Given the description of an element on the screen output the (x, y) to click on. 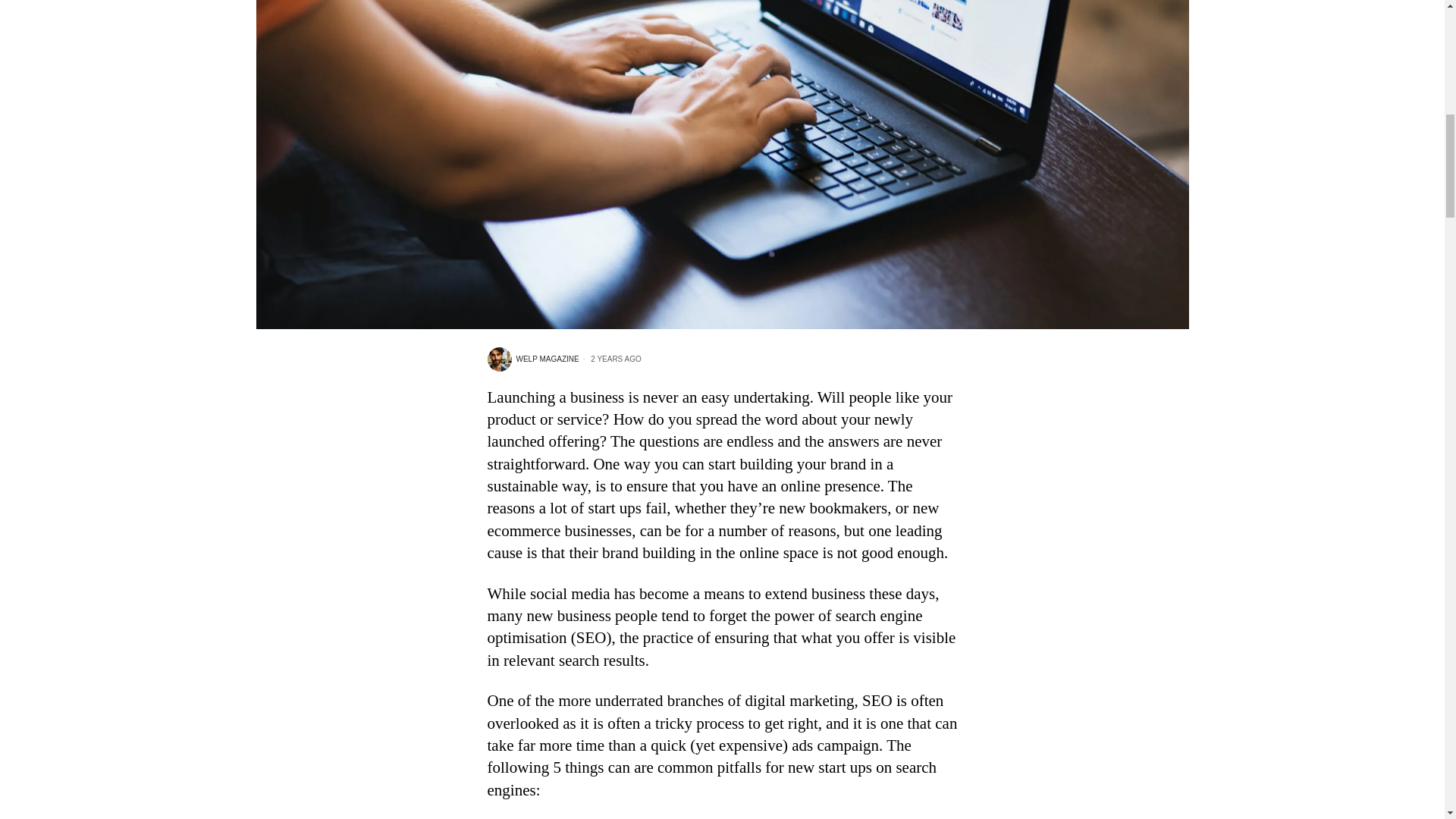
WELP MAGAZINE (532, 359)
05 Jul, 2022 11:56:34 (610, 357)
